Given the description of an element on the screen output the (x, y) to click on. 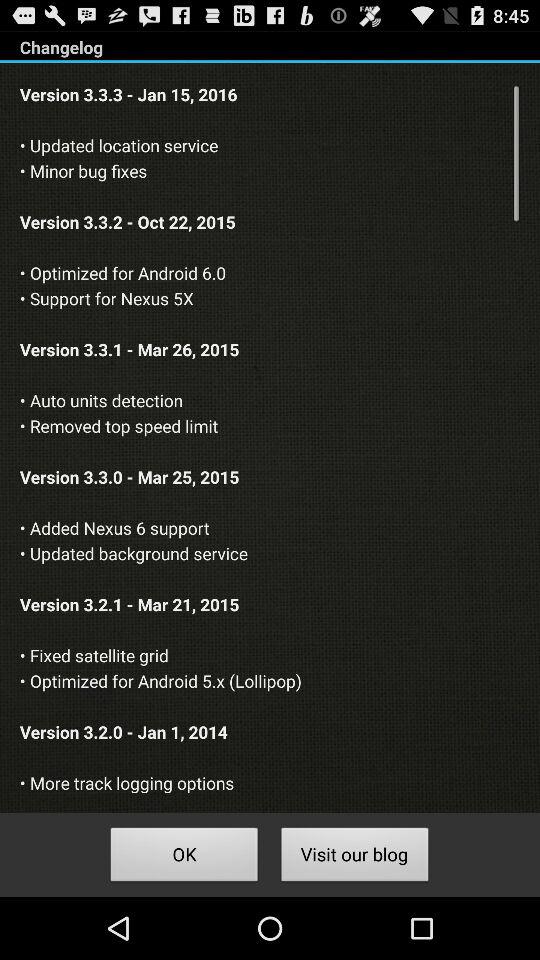
turn off app below the version 3 3 (354, 857)
